Given the description of an element on the screen output the (x, y) to click on. 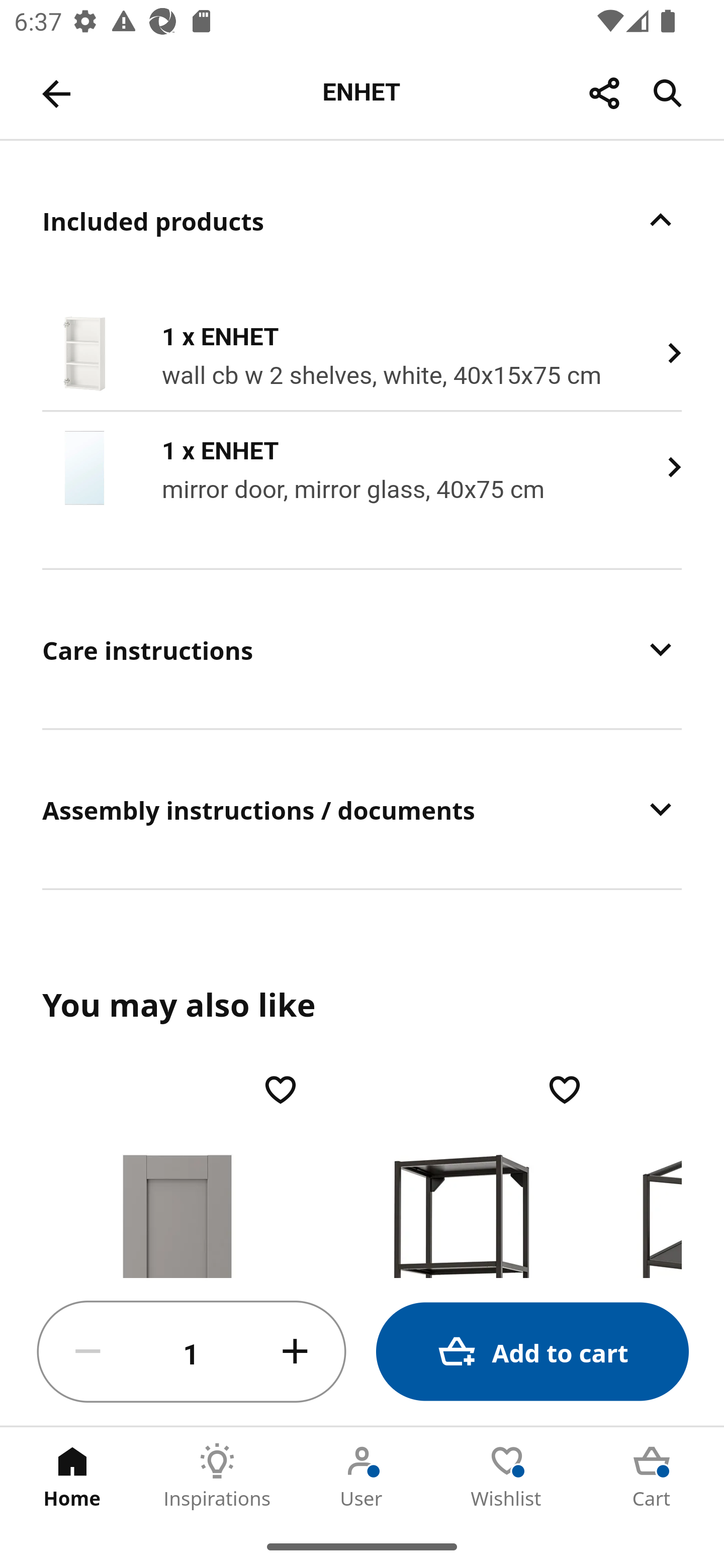
Included products (361, 219)
1 x ENHET
wall cb w 2 shelves, white, 40x15x75 cm (361, 353)
1 x ENHET
mirror door, mirror glass, 40x75 cm (361, 466)
Care instructions (361, 648)
Assembly instructions / documents (361, 808)
Add to cart (531, 1352)
1 (191, 1352)
Home
Tab 1 of 5 (72, 1476)
Inspirations
Tab 2 of 5 (216, 1476)
User
Tab 3 of 5 (361, 1476)
Wishlist
Tab 4 of 5 (506, 1476)
Cart
Tab 5 of 5 (651, 1476)
